Given the description of an element on the screen output the (x, y) to click on. 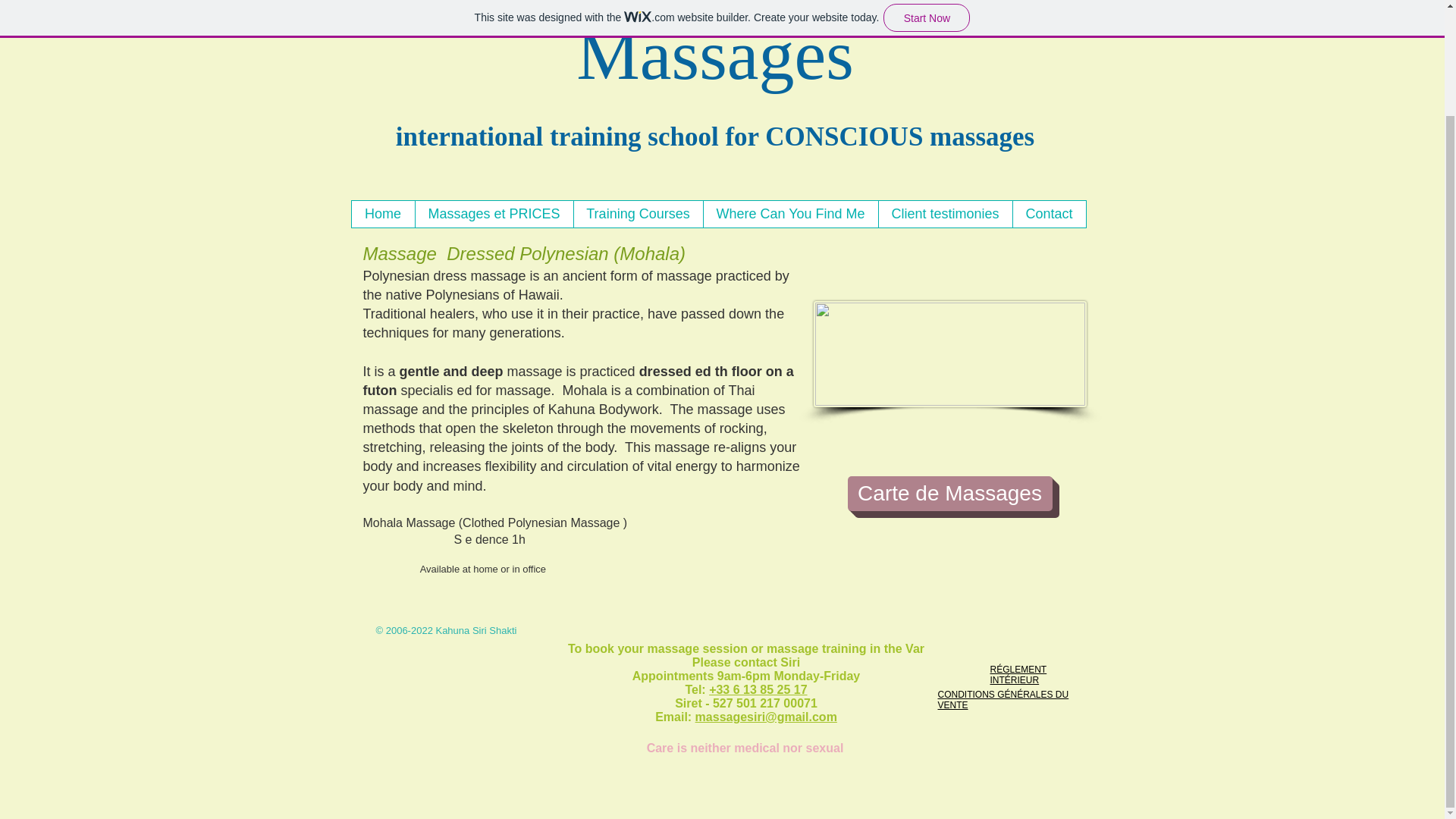
Home (383, 213)
Carte de Massages (949, 493)
Where Can You Find Me (789, 213)
Client testimonies (944, 213)
logo siri.png (420, 18)
Contact (1047, 213)
Massages et PRICES (492, 213)
Kahuna (667, 6)
Massages (714, 54)
SIRI (865, 6)
